Given the description of an element on the screen output the (x, y) to click on. 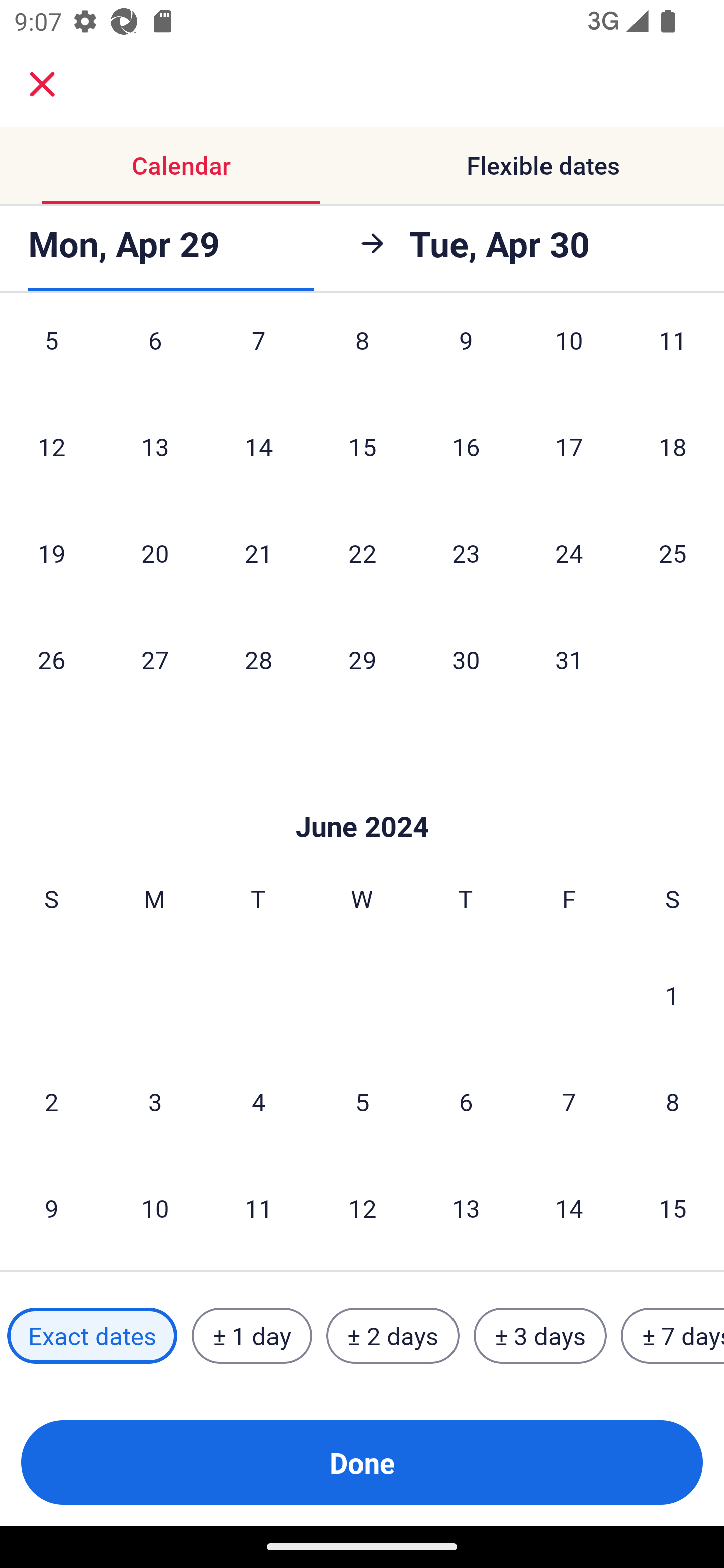
close. (42, 84)
Flexible dates (542, 164)
5 Sunday, May 5, 2024 (51, 356)
6 Monday, May 6, 2024 (155, 356)
7 Tuesday, May 7, 2024 (258, 356)
8 Wednesday, May 8, 2024 (362, 356)
9 Thursday, May 9, 2024 (465, 356)
10 Friday, May 10, 2024 (569, 356)
11 Saturday, May 11, 2024 (672, 356)
12 Sunday, May 12, 2024 (51, 446)
13 Monday, May 13, 2024 (155, 446)
14 Tuesday, May 14, 2024 (258, 446)
15 Wednesday, May 15, 2024 (362, 446)
16 Thursday, May 16, 2024 (465, 446)
17 Friday, May 17, 2024 (569, 446)
18 Saturday, May 18, 2024 (672, 446)
19 Sunday, May 19, 2024 (51, 553)
20 Monday, May 20, 2024 (155, 553)
21 Tuesday, May 21, 2024 (258, 553)
22 Wednesday, May 22, 2024 (362, 553)
23 Thursday, May 23, 2024 (465, 553)
24 Friday, May 24, 2024 (569, 553)
25 Saturday, May 25, 2024 (672, 553)
26 Sunday, May 26, 2024 (51, 659)
27 Monday, May 27, 2024 (155, 659)
28 Tuesday, May 28, 2024 (258, 659)
29 Wednesday, May 29, 2024 (362, 659)
30 Thursday, May 30, 2024 (465, 659)
31 Friday, May 31, 2024 (569, 659)
Skip to Done (362, 796)
1 Saturday, June 1, 2024 (672, 994)
2 Sunday, June 2, 2024 (51, 1101)
3 Monday, June 3, 2024 (155, 1101)
4 Tuesday, June 4, 2024 (258, 1101)
5 Wednesday, June 5, 2024 (362, 1101)
6 Thursday, June 6, 2024 (465, 1101)
7 Friday, June 7, 2024 (569, 1101)
8 Saturday, June 8, 2024 (672, 1101)
9 Sunday, June 9, 2024 (51, 1208)
10 Monday, June 10, 2024 (155, 1208)
11 Tuesday, June 11, 2024 (258, 1208)
12 Wednesday, June 12, 2024 (362, 1208)
13 Thursday, June 13, 2024 (465, 1208)
14 Friday, June 14, 2024 (569, 1208)
15 Saturday, June 15, 2024 (672, 1208)
Exact dates (92, 1335)
± 1 day (251, 1335)
± 2 days (392, 1335)
± 3 days (539, 1335)
± 7 days (672, 1335)
Done (361, 1462)
